Given the description of an element on the screen output the (x, y) to click on. 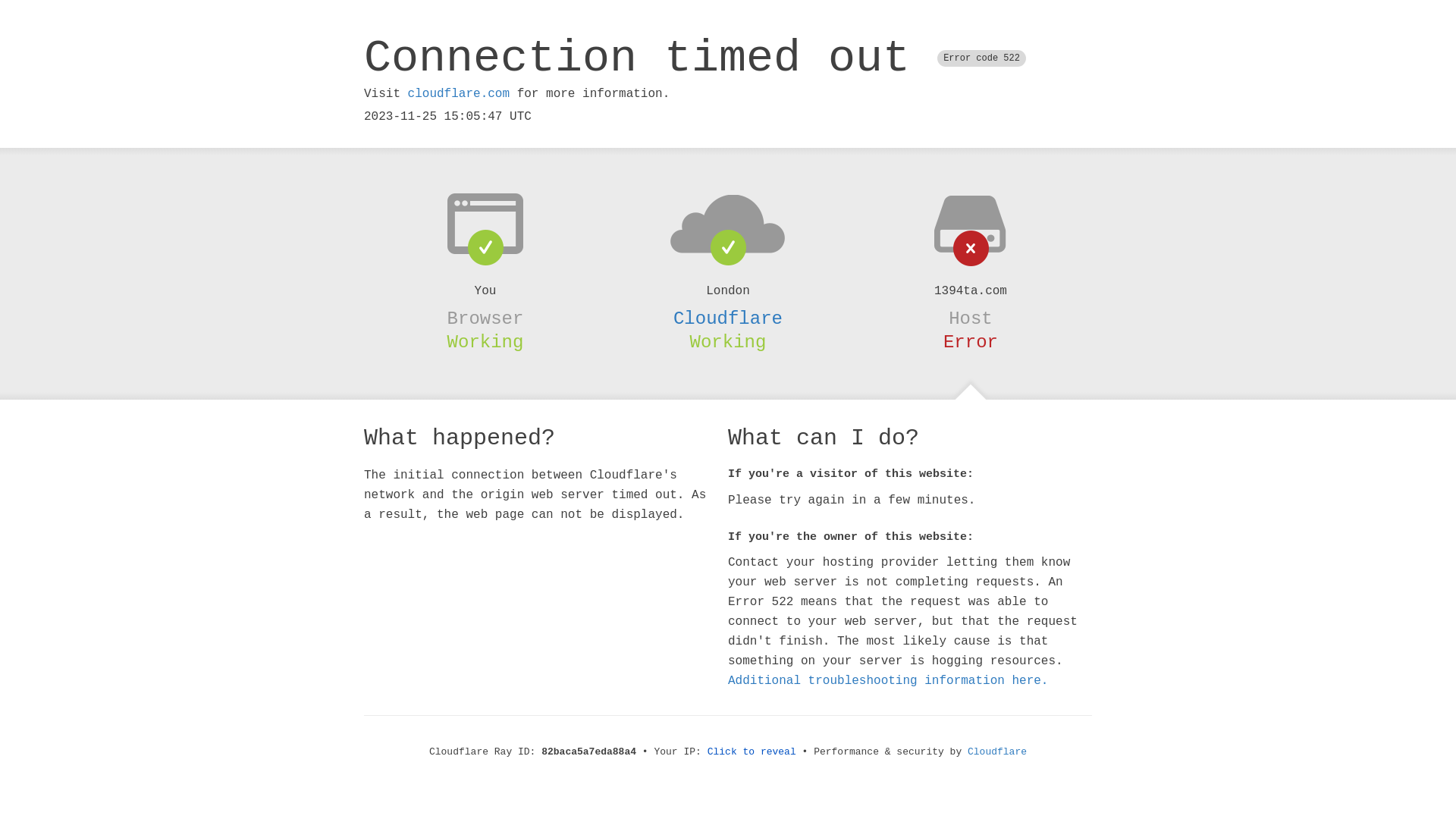
Click to reveal Element type: text (751, 751)
Additional troubleshooting information here. Element type: text (888, 680)
cloudflare.com Element type: text (458, 93)
Cloudflare Element type: text (727, 318)
Cloudflare Element type: text (996, 751)
